Given the description of an element on the screen output the (x, y) to click on. 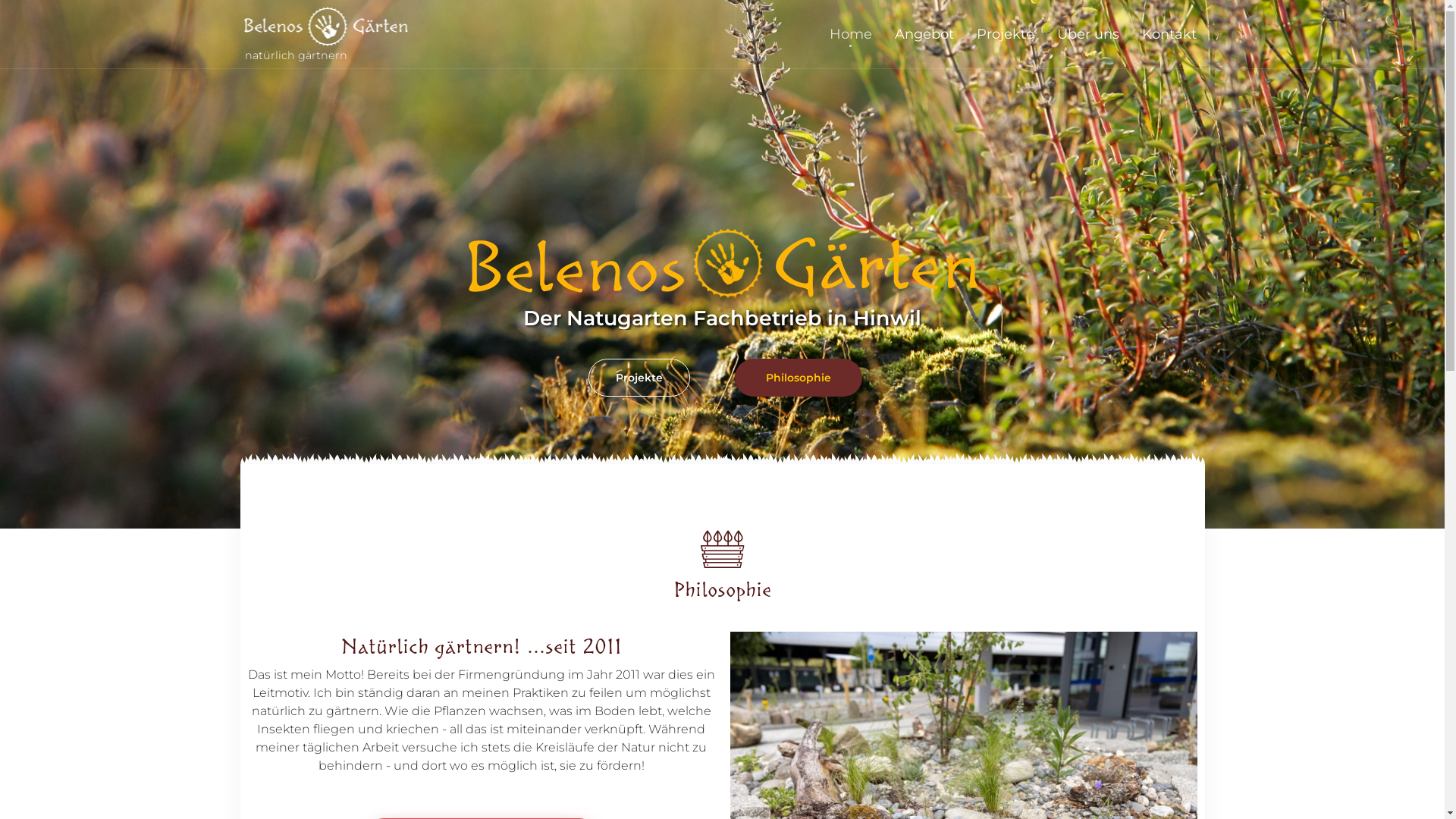
Home Element type: text (849, 34)
Kontakt Element type: text (1168, 34)
Angebot Element type: text (923, 34)
Projekte Element type: text (1004, 34)
Skip to content Element type: text (1207, 14)
grass Element type: hover (721, 458)
